Given the description of an element on the screen output the (x, y) to click on. 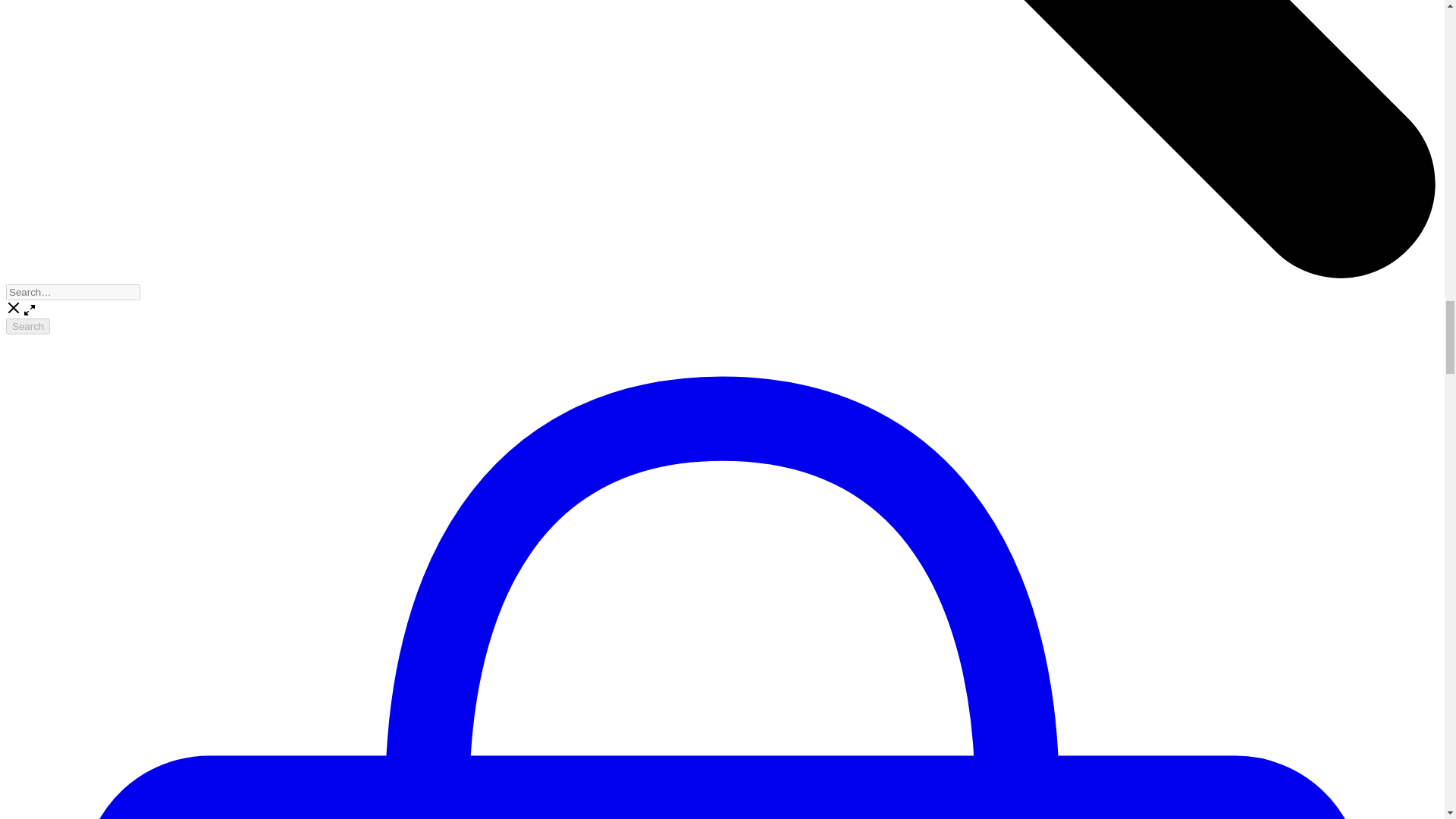
Search (27, 326)
Search (27, 326)
